Given the description of an element on the screen output the (x, y) to click on. 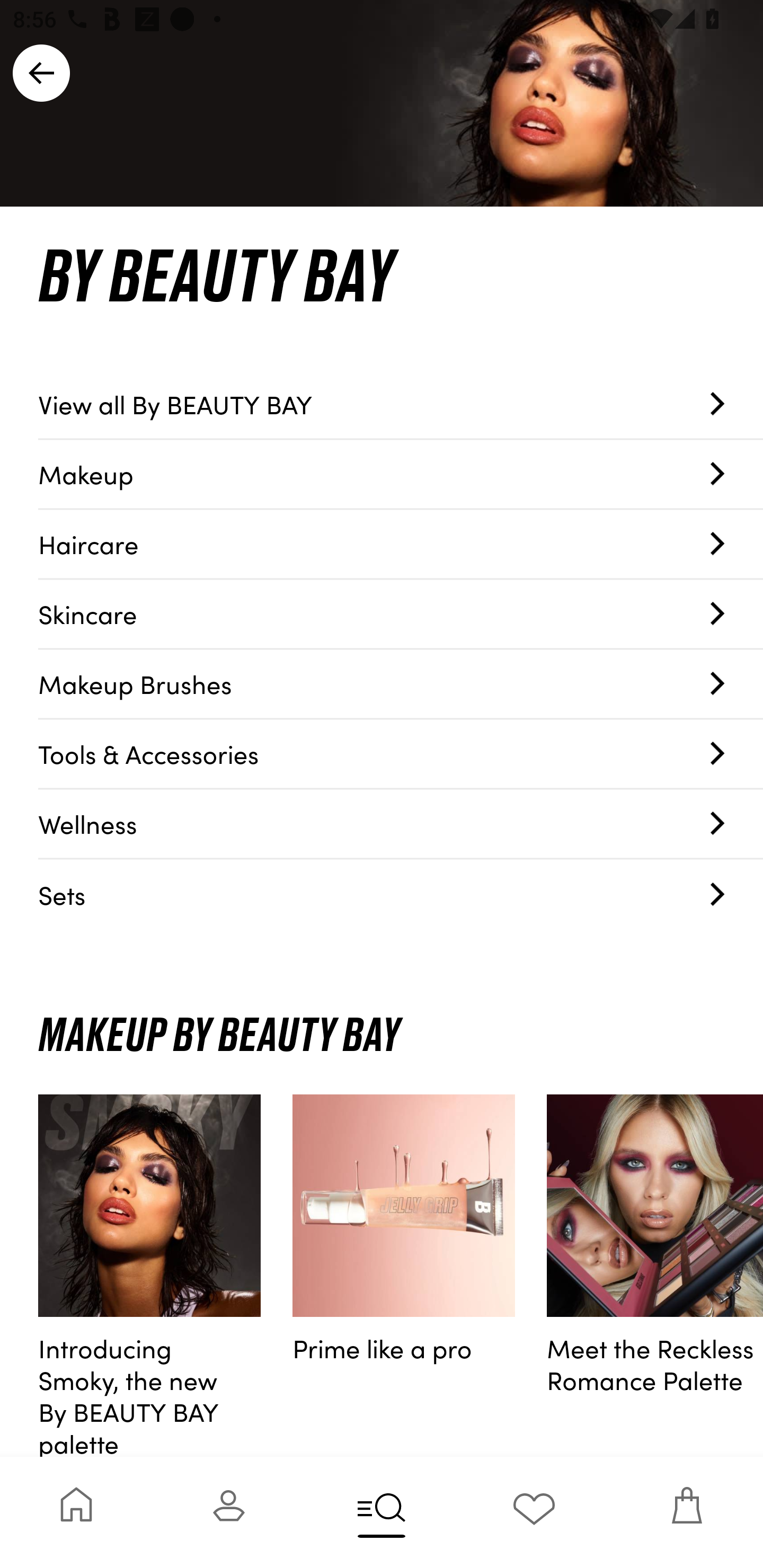
View all By BEAUTY BAY  (400, 404)
Makeup (400, 474)
Haircare (400, 544)
Skincare (400, 614)
Makeup Brushes (400, 684)
Tools & Accessories (400, 753)
Wellness (400, 823)
Sets (400, 894)
Introducing Smoky, the new By BEAUTY BAY palette (149, 1275)
Prime like a pro (403, 1275)
Meet the Reckless Romance Palette (655, 1275)
